Given the description of an element on the screen output the (x, y) to click on. 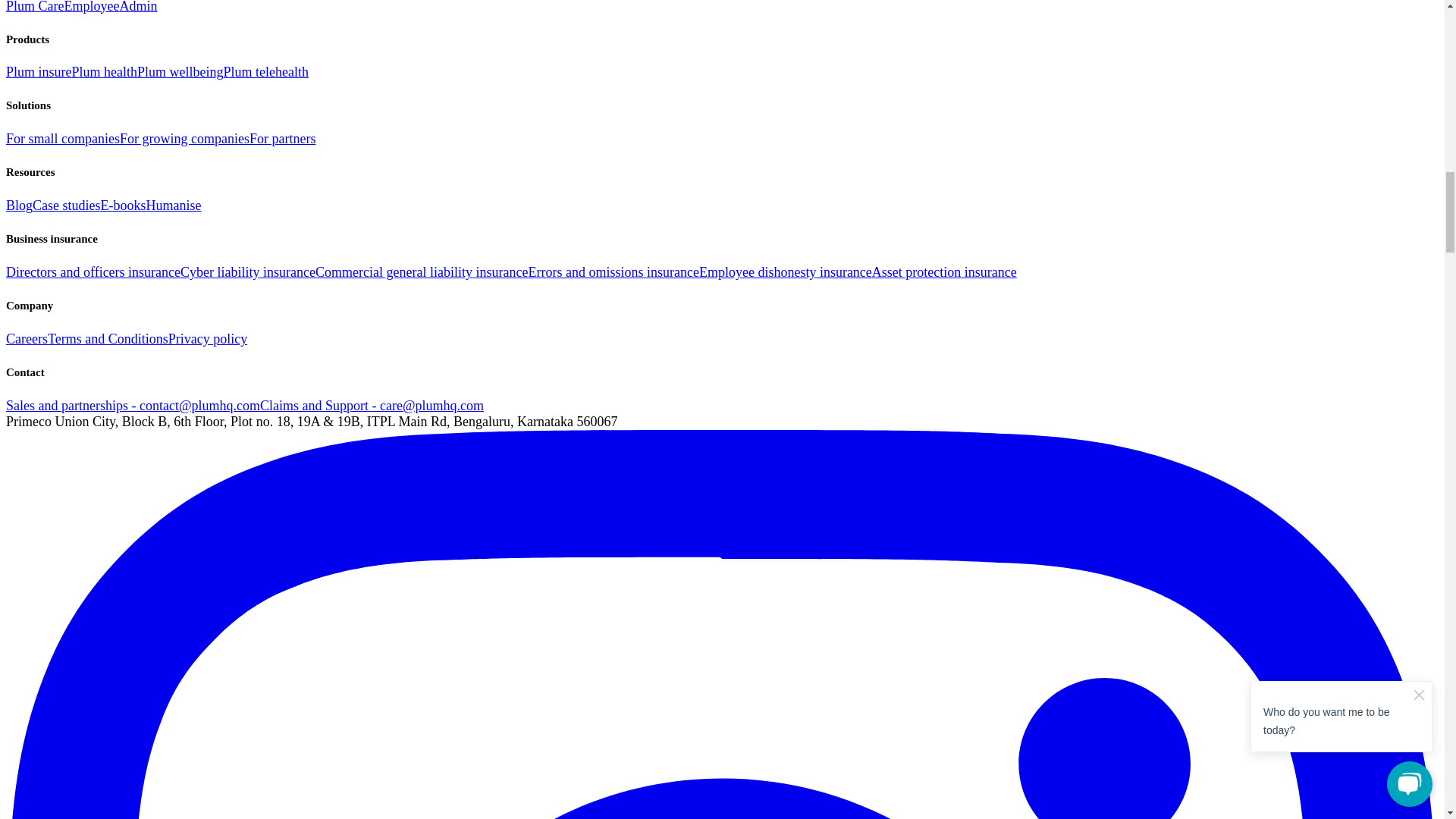
Plum telehealth (266, 71)
Plum wellbeing (180, 71)
Employee (91, 6)
E-books (123, 205)
Admin (138, 6)
Employee dishonesty insurance (785, 272)
Asset protection insurance (944, 272)
Directors and officers insurance (92, 272)
For small companies (62, 138)
For growing companies (183, 138)
For partners (281, 138)
Commercial general liability insurance (421, 272)
Terms and Conditions (108, 338)
Case studies (66, 205)
Plum insure (38, 71)
